Given the description of an element on the screen output the (x, y) to click on. 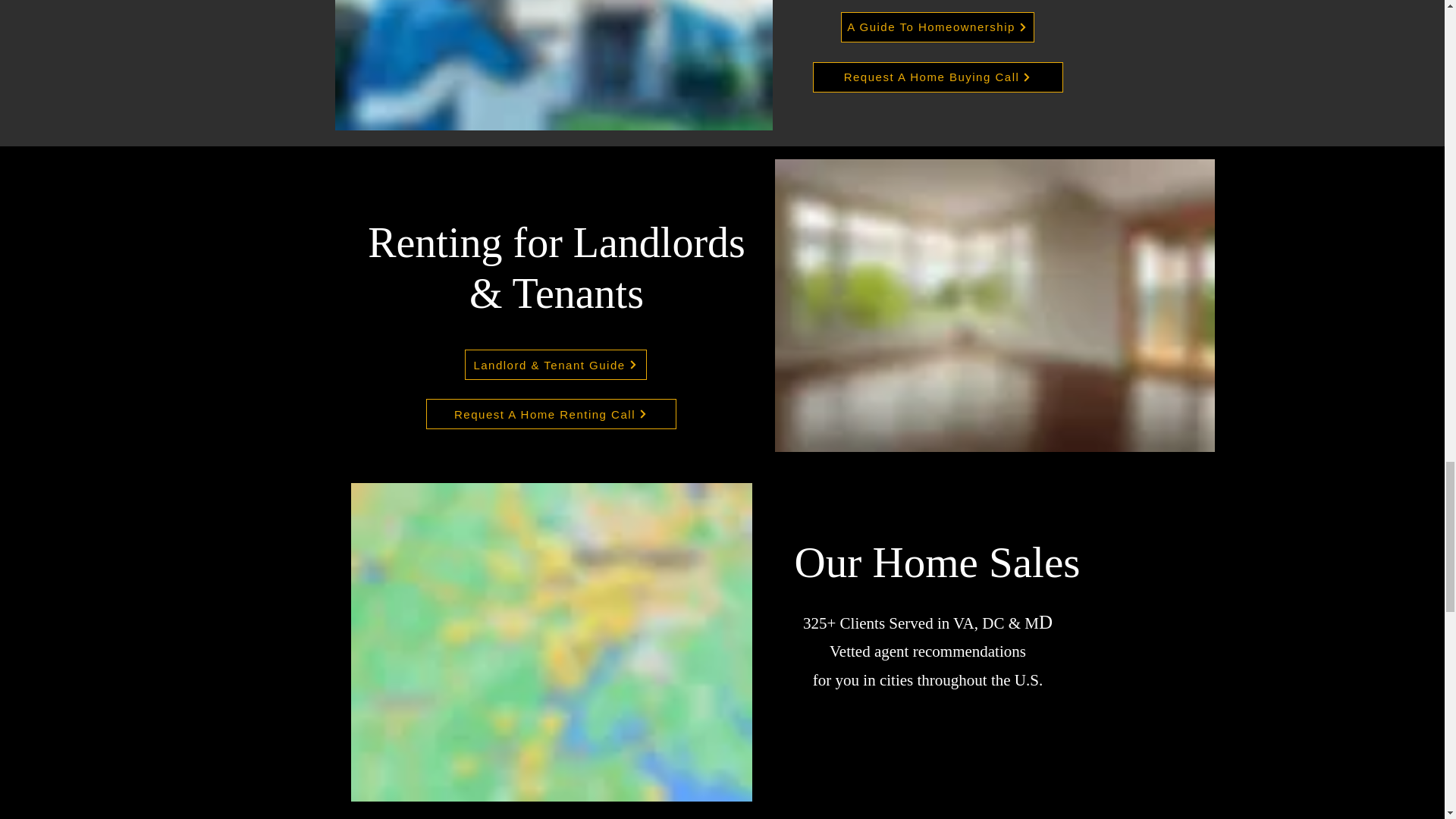
Request A Home Buying Call (937, 77)
Request A Home Renting Call (551, 413)
A Guide To Homeownership (936, 27)
